Given the description of an element on the screen output the (x, y) to click on. 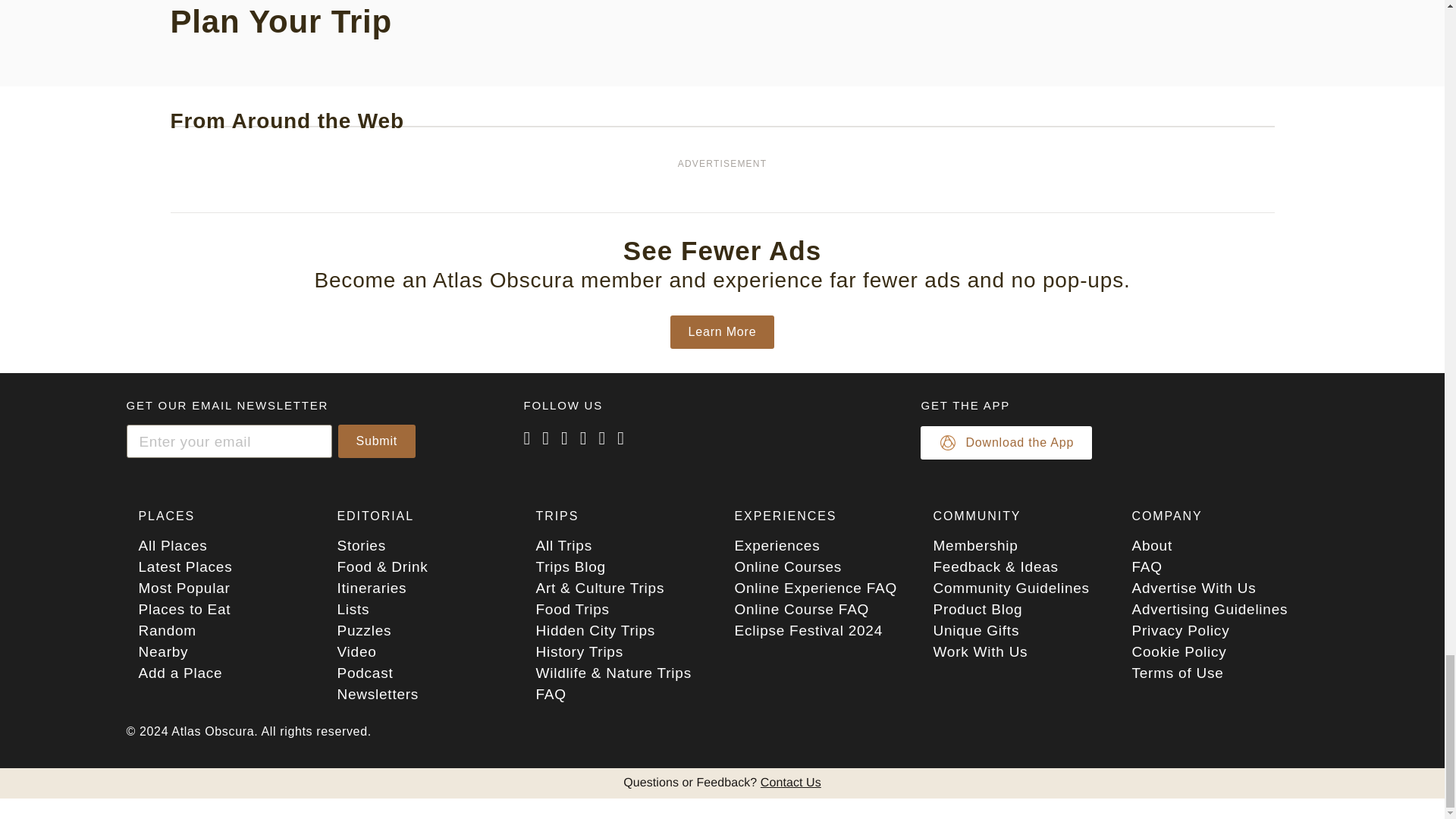
Submit (376, 441)
